Given the description of an element on the screen output the (x, y) to click on. 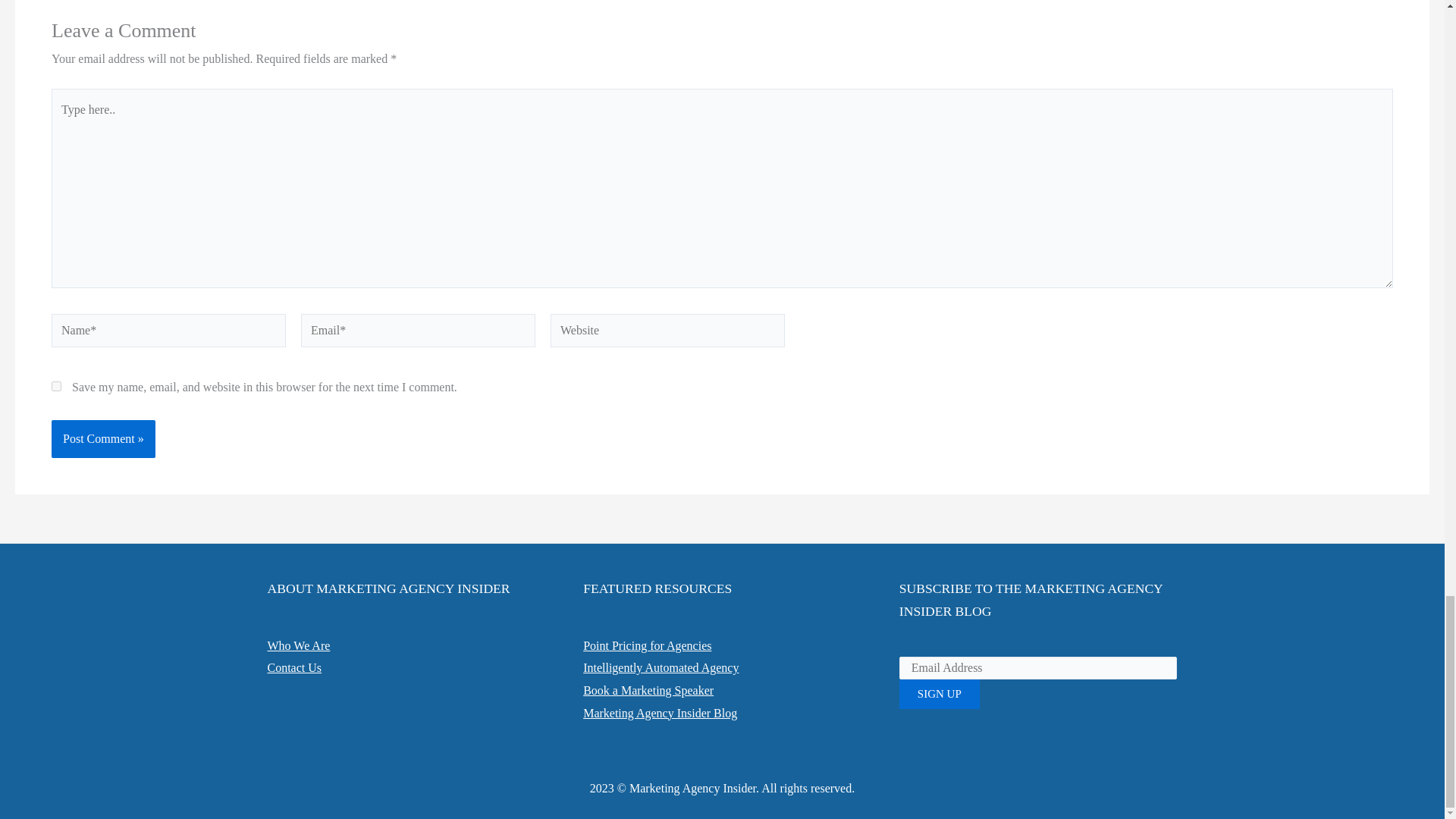
yes (55, 386)
